Given the description of an element on the screen output the (x, y) to click on. 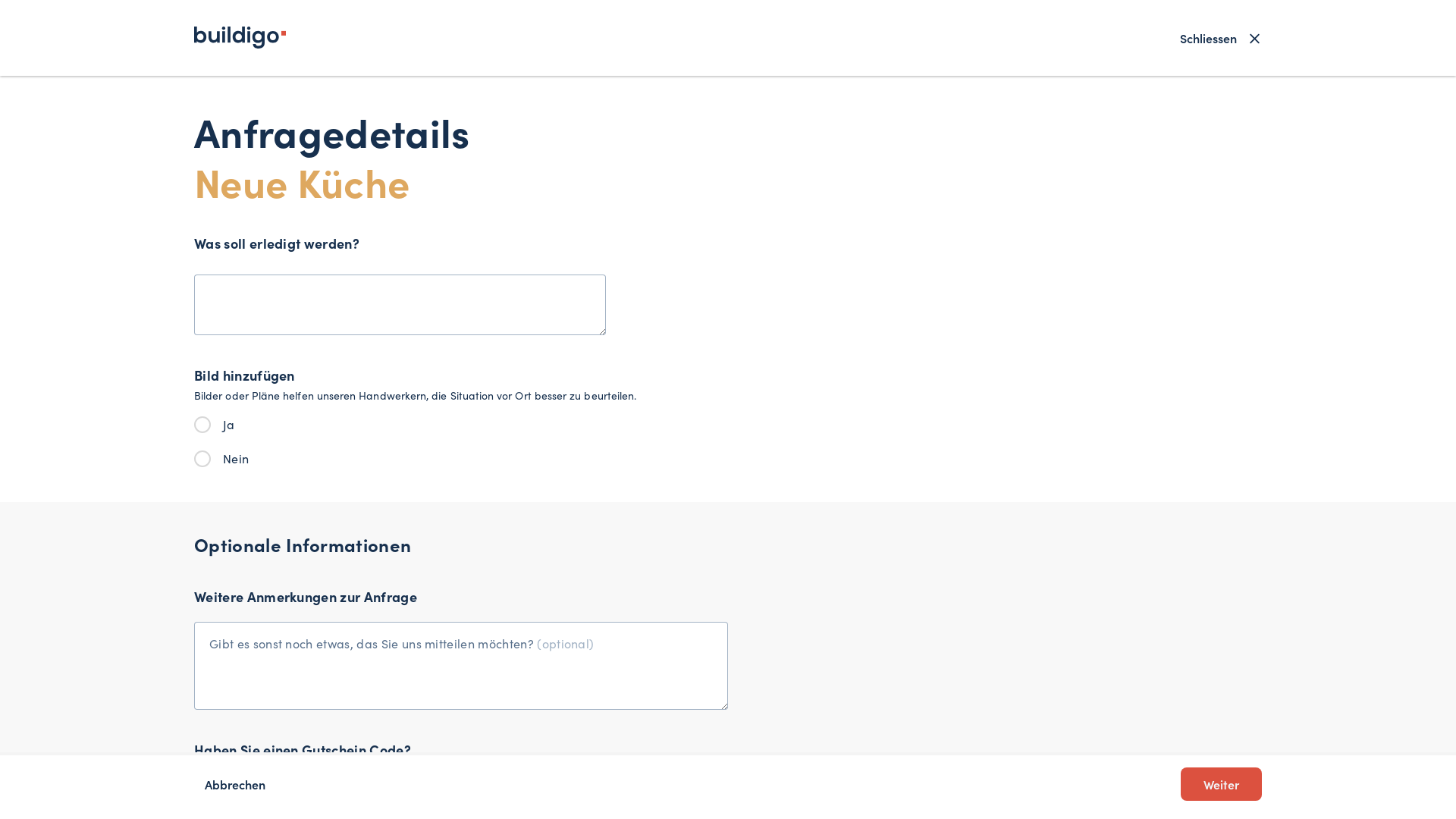
Schliessen Element type: text (1219, 37)
Weiter Element type: text (1220, 783)
Abbrechen Element type: text (235, 783)
